Given the description of an element on the screen output the (x, y) to click on. 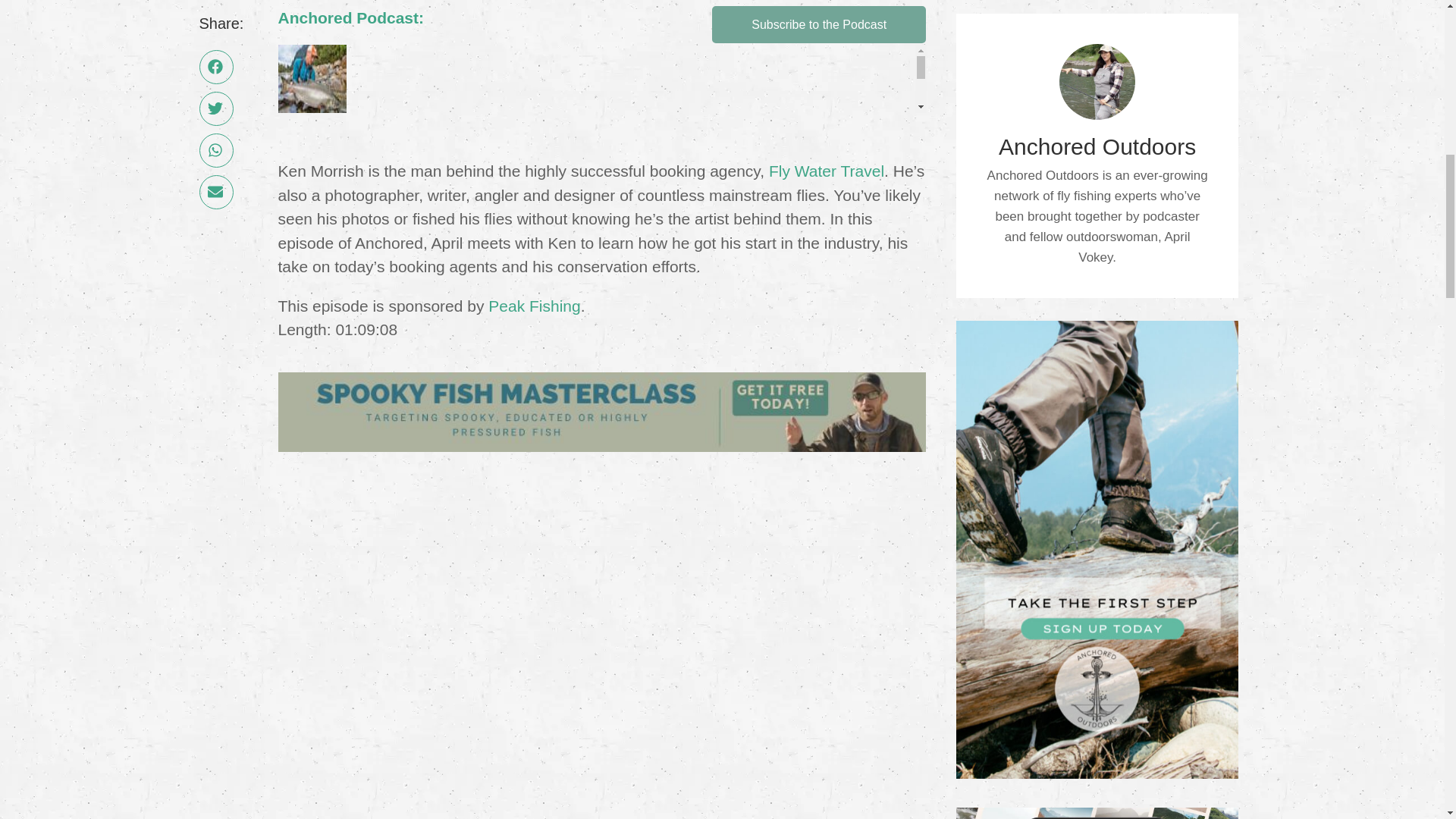
Fly Water Travel (825, 170)
Subscribe to the Podcast (818, 24)
Anchored Podcast: (350, 17)
Peak Fishing (533, 305)
